Given the description of an element on the screen output the (x, y) to click on. 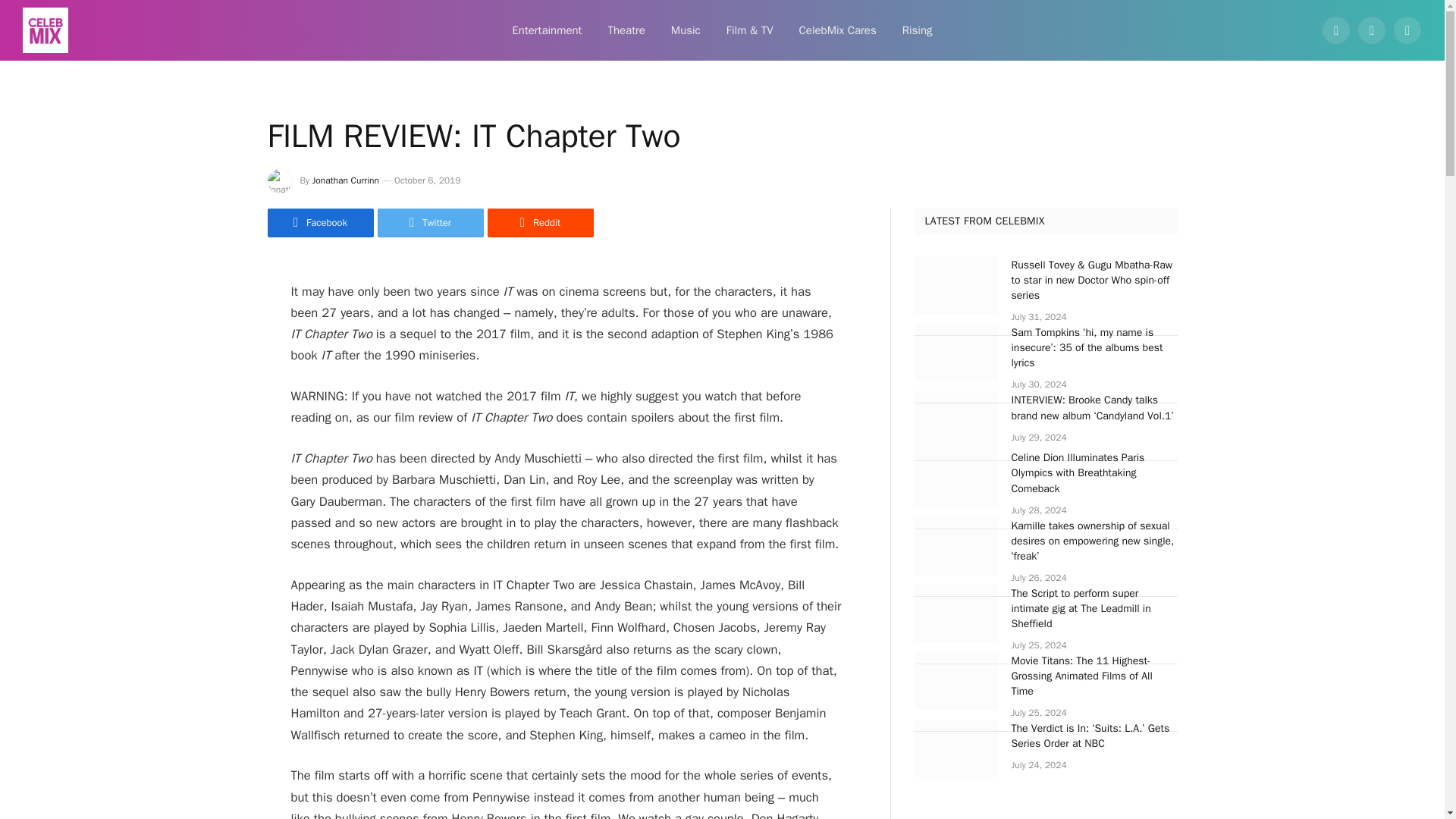
Share on Facebook (319, 222)
CelebMix Cares (837, 30)
Twitter (430, 222)
Posts by Jonathan Currinn (345, 180)
Rising (916, 30)
Facebook (1336, 30)
Theatre (626, 30)
Facebook (319, 222)
Instagram (1407, 30)
Music (685, 30)
Entertainment (546, 30)
Jonathan Currinn (345, 180)
Reddit (539, 222)
Share on Reddit (539, 222)
